Given the description of an element on the screen output the (x, y) to click on. 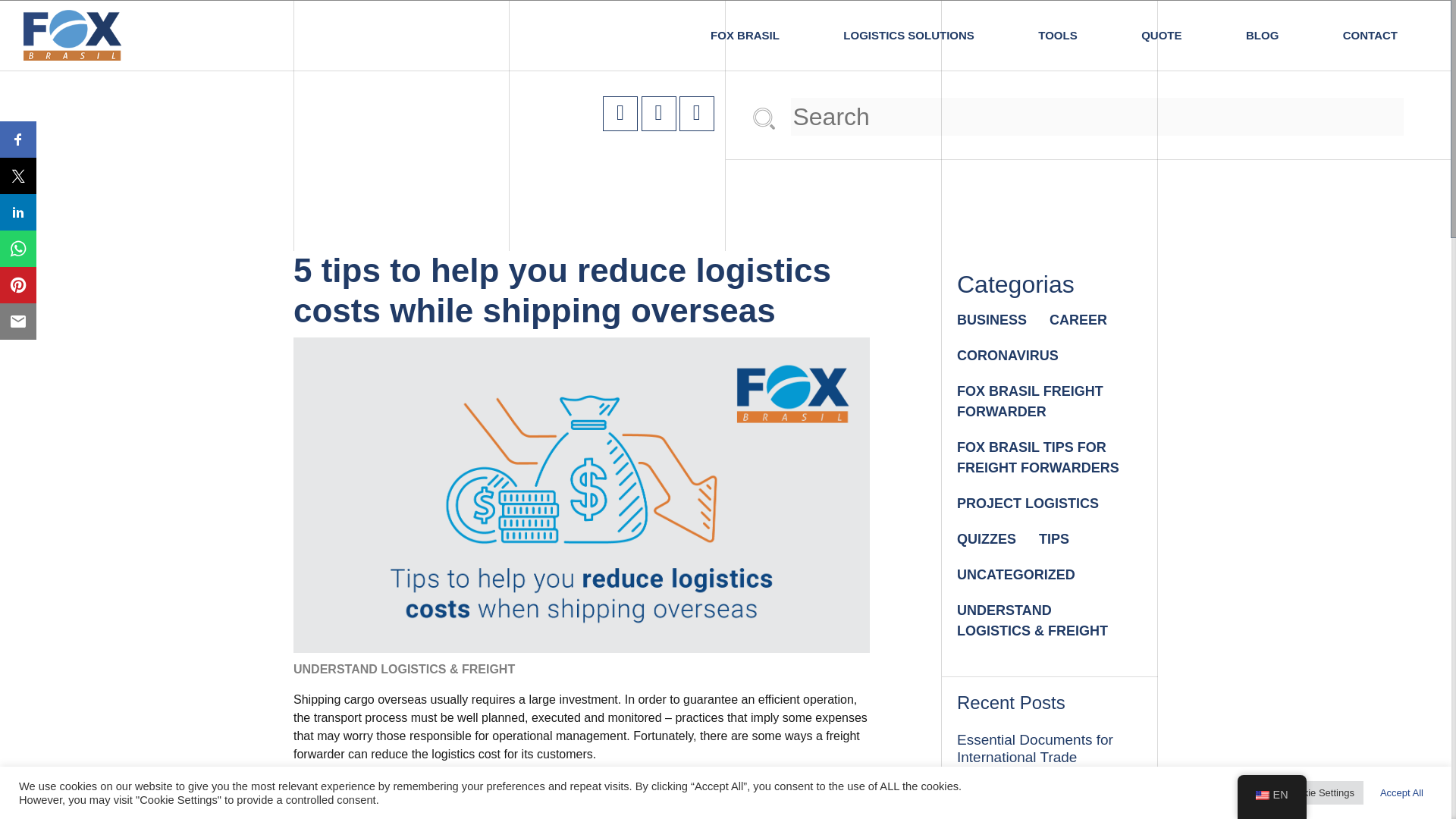
FOX BRASIL (744, 34)
English (1262, 795)
BLOG (1262, 34)
LOGISTICS SOLUTIONS (908, 34)
CONTACT (1369, 34)
TOOLS (1057, 34)
QUOTE (1160, 34)
